Given the description of an element on the screen output the (x, y) to click on. 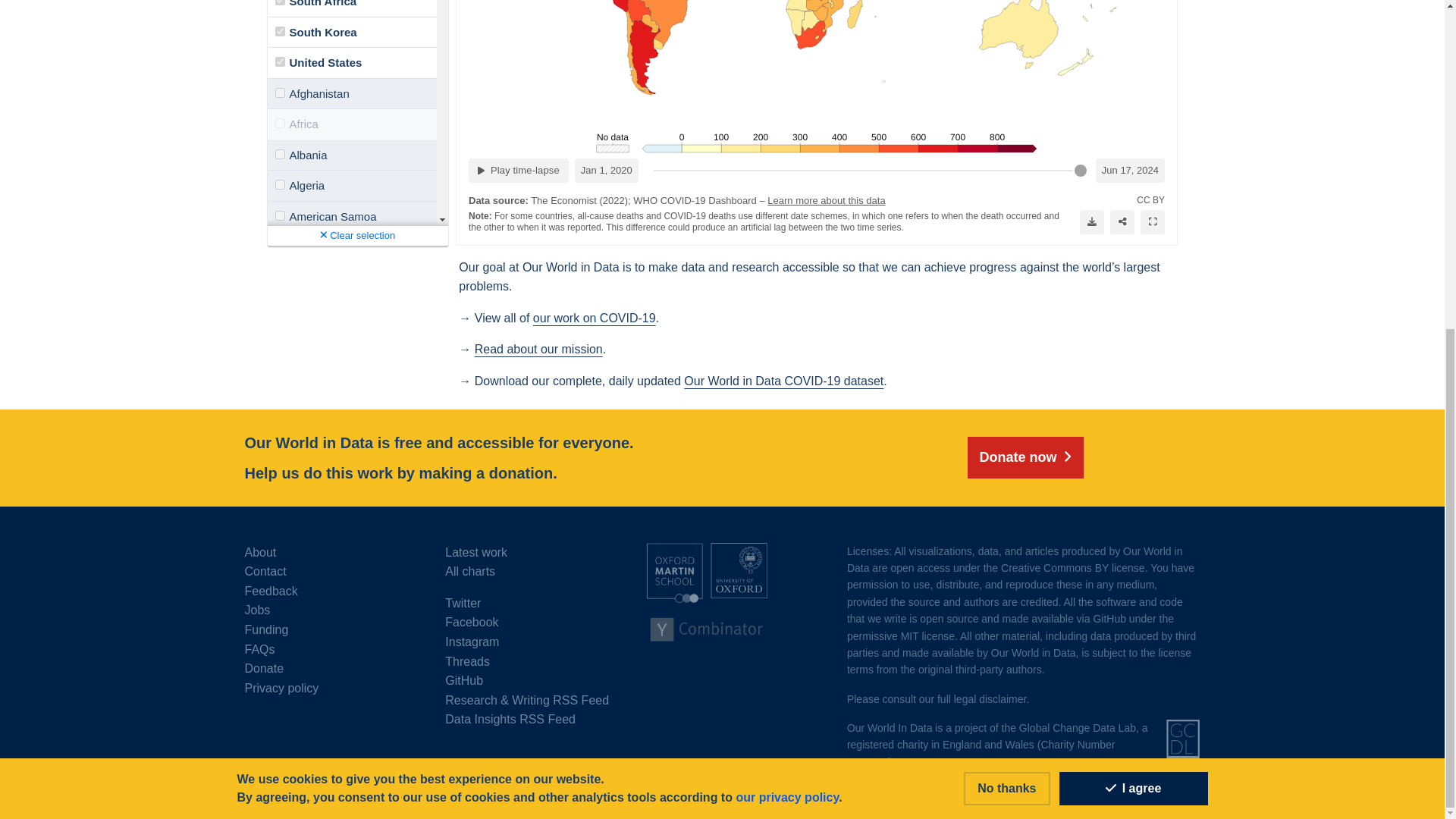
About (332, 552)
Read about our mission (538, 349)
Afghanistan (279, 92)
United States (279, 61)
Play time-lapse (518, 170)
our work on COVID-19 (594, 318)
Africa (279, 122)
Our World in Data COVID-19 dataset (783, 380)
Jun 17, 2024 (1128, 170)
Learn more about this data (826, 200)
South Africa (279, 2)
Albania (279, 153)
Donate now (816, 77)
South Korea (1025, 456)
